Given the description of an element on the screen output the (x, y) to click on. 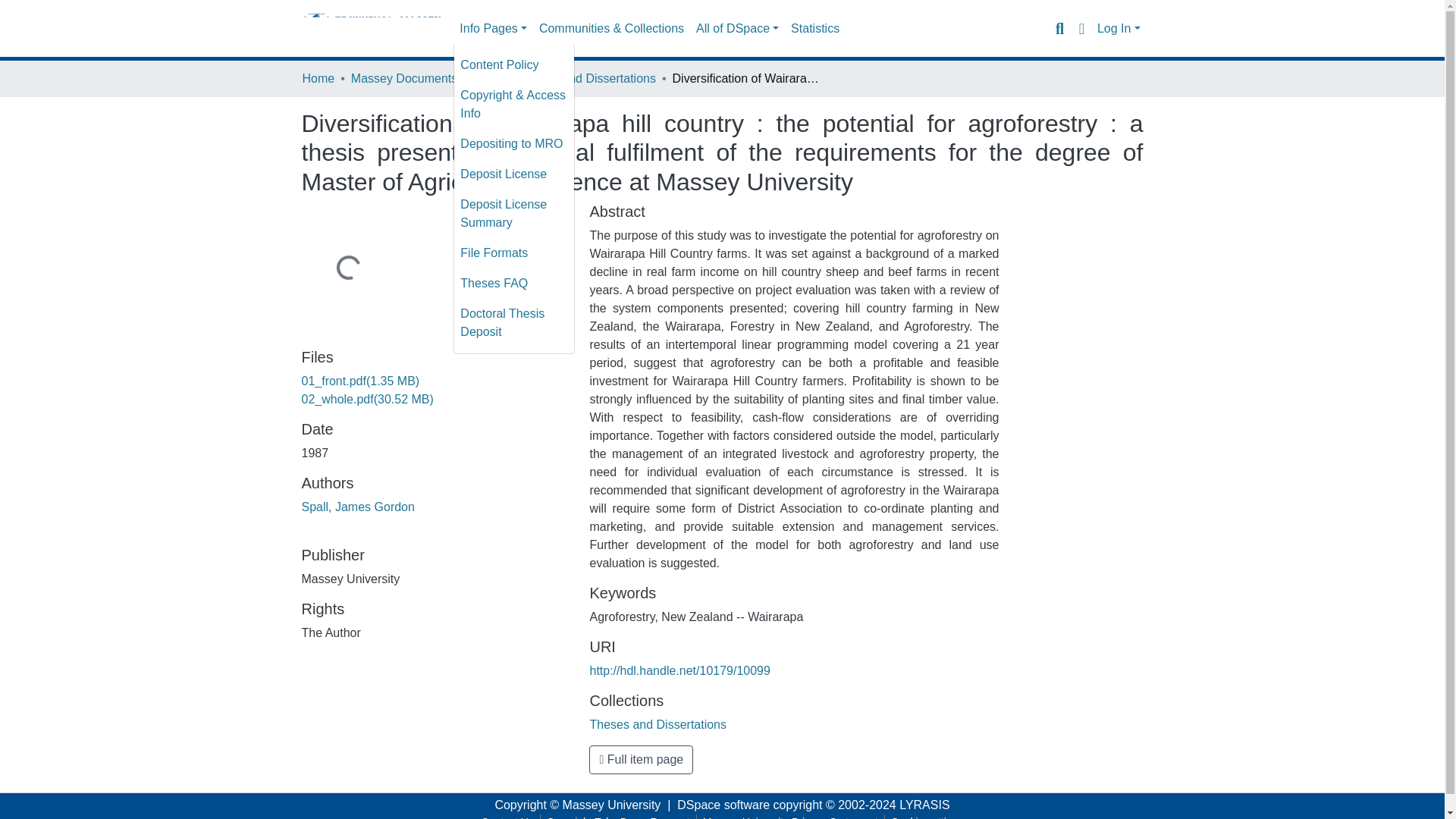
Content Policy (513, 64)
Log In (1118, 28)
Full item page (641, 759)
Theses and Dissertations (587, 78)
Spall, James Gordon (357, 506)
Doctoral Thesis Deposit (513, 322)
Home (317, 78)
Deposit License (513, 173)
File Formats (513, 253)
All of DSpace (737, 28)
Statistics (814, 28)
Massey Documents by Type (426, 78)
Statistics (814, 28)
Depositing to MRO (513, 143)
Info Pages (492, 28)
